Given the description of an element on the screen output the (x, y) to click on. 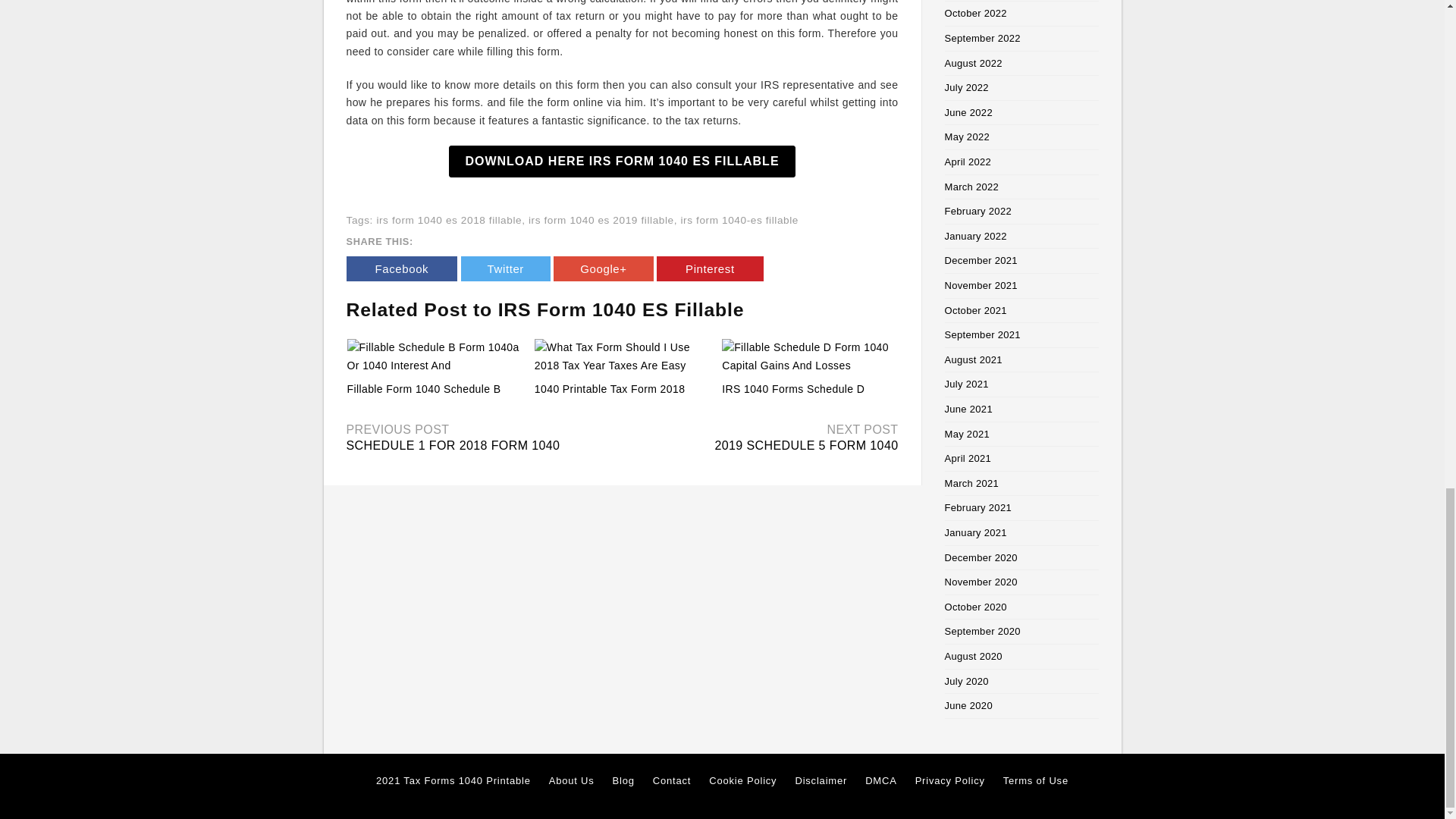
1040 Printable Tax Form 2018 (622, 356)
Twitter (505, 268)
1040 Printable Tax Form 2018 (609, 388)
IRS 1040 Forms Schedule D (793, 388)
IRS 1040 Forms Schedule D (809, 356)
DOWNLOAD HERE IRS FORM 1040 ES FILLABLE (621, 161)
IRS 1040 Forms Schedule D (793, 388)
DOWNLOAD HERE IRS FORM 1040 ES FILLABLE (621, 161)
irs form 1040 es 2019 fillable (601, 220)
irs form 1040 es 2018 fillable (448, 220)
Facebook (401, 268)
1040 Printable Tax Form 2018 (609, 388)
2019 SCHEDULE 5 FORM 1040 (806, 445)
Fillable Form 1040 Schedule B (423, 388)
SCHEDULE 1 FOR 2018 FORM 1040 (452, 445)
